Given the description of an element on the screen output the (x, y) to click on. 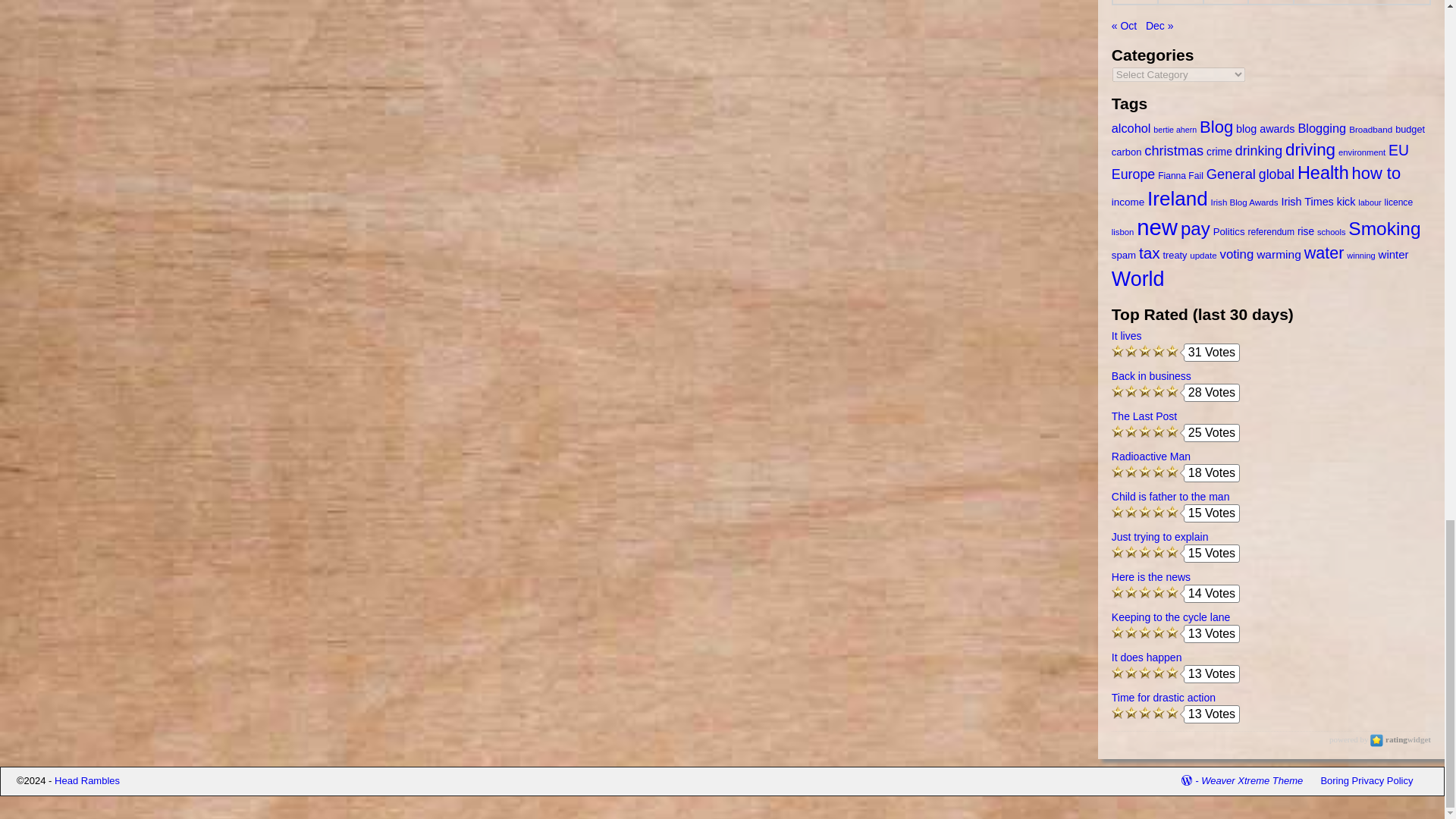
It lives (1271, 336)
